Given the description of an element on the screen output the (x, y) to click on. 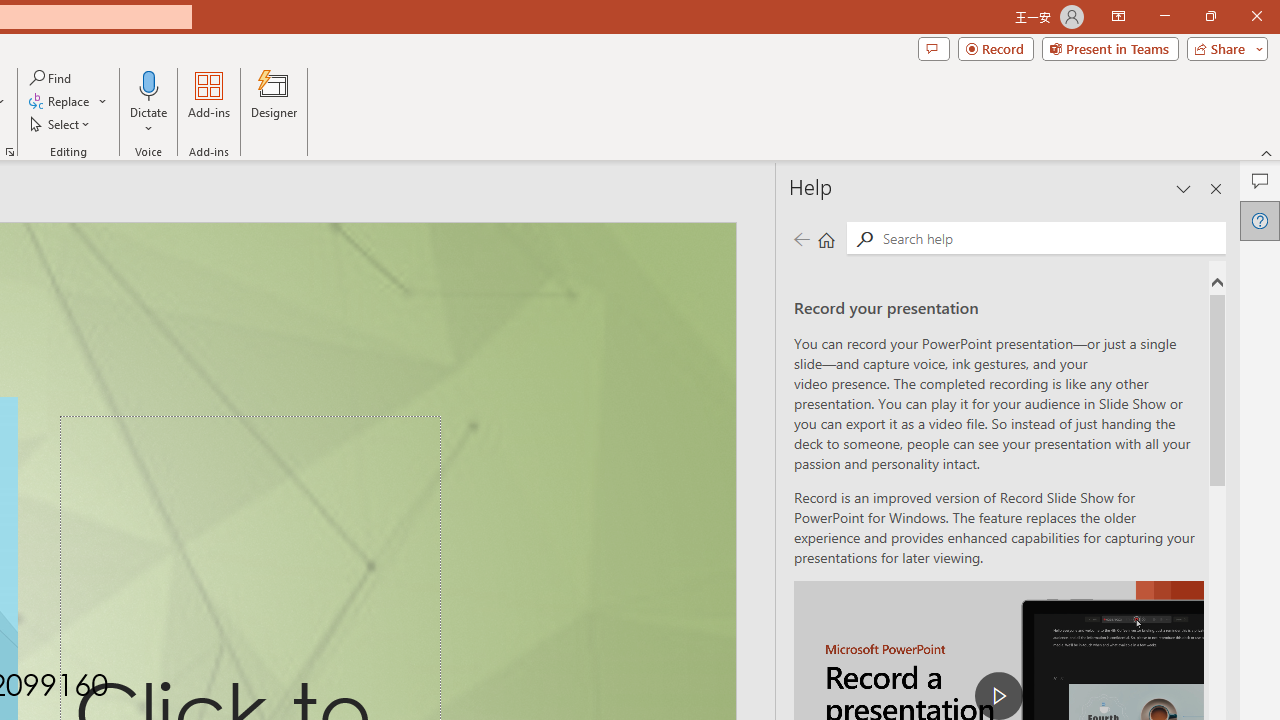
Replace... (68, 101)
Select (61, 124)
Present in Teams (1109, 48)
Ribbon Display Options (1118, 16)
Previous page (801, 238)
Search (864, 238)
